Given the description of an element on the screen output the (x, y) to click on. 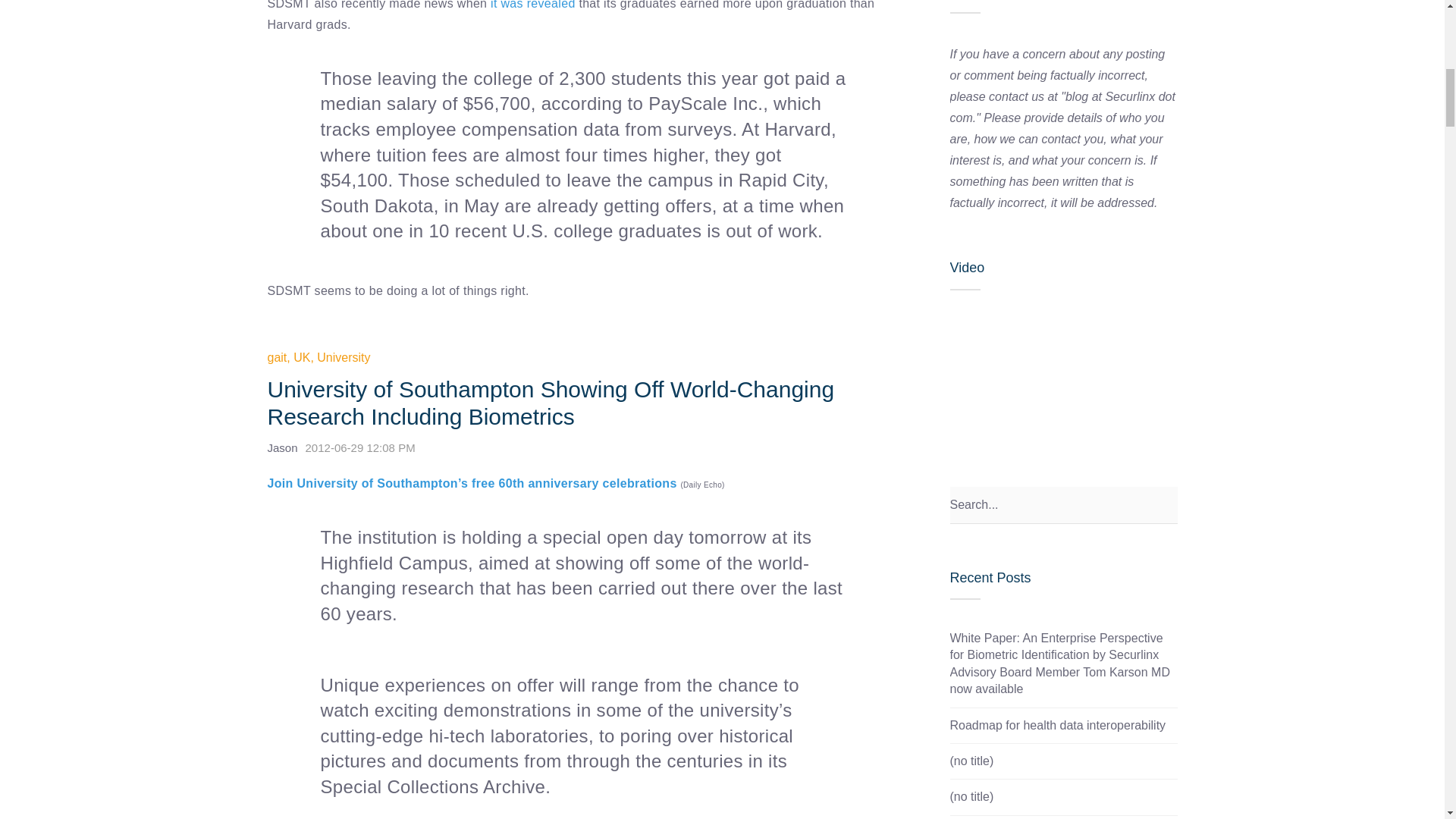
Search... (1062, 505)
Jason (281, 447)
UK (302, 357)
Roadmap for health data interoperability (1057, 725)
2012-06-29 12:08 PM (364, 447)
View all posts by Jason (281, 447)
